Given the description of an element on the screen output the (x, y) to click on. 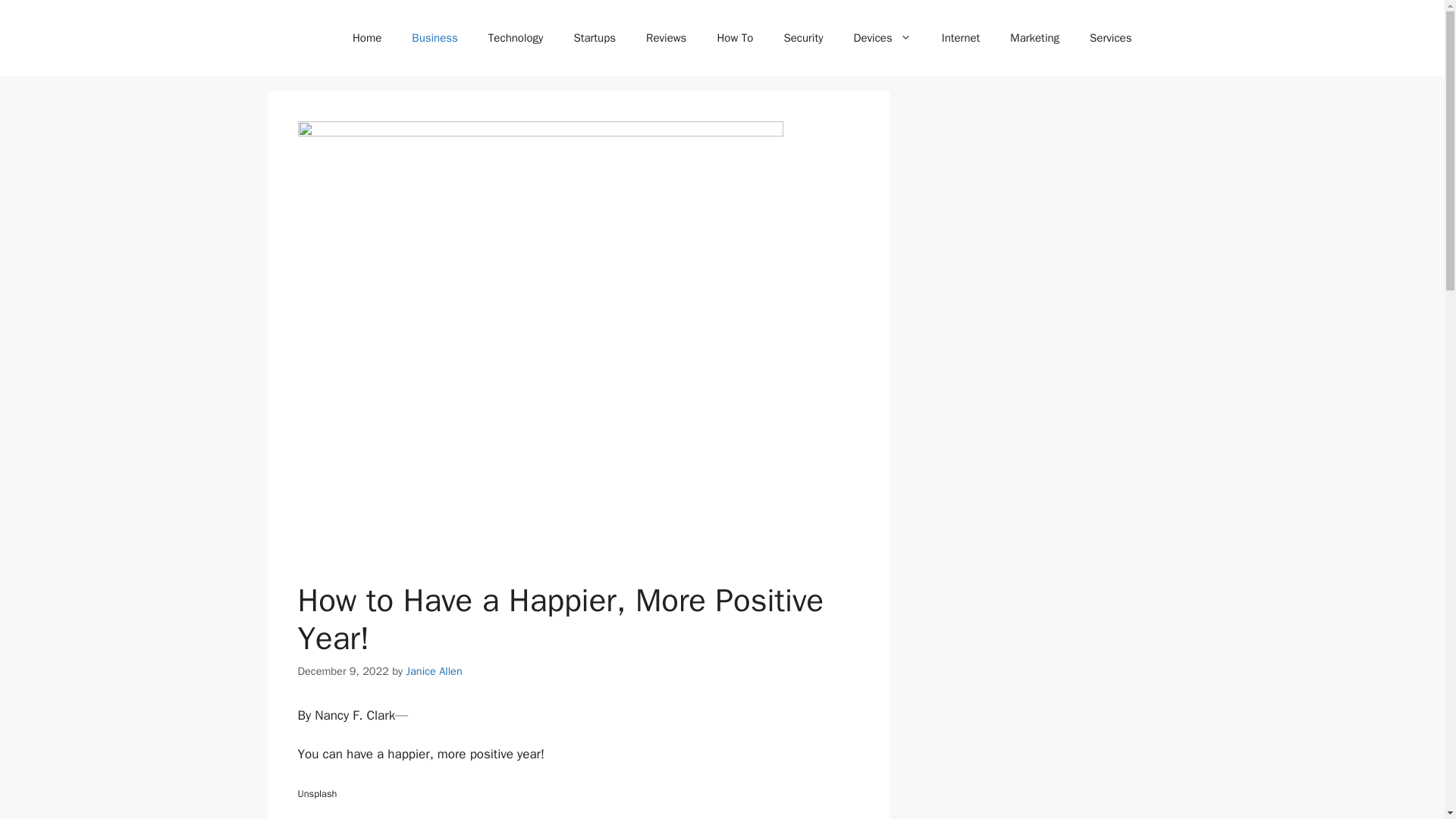
Services (1110, 37)
Reviews (665, 37)
Devices (882, 37)
How To (734, 37)
Security (803, 37)
Janice Allen (433, 671)
Marketing (1034, 37)
View all posts by Janice Allen (433, 671)
Internet (960, 37)
Startups (593, 37)
